Given the description of an element on the screen output the (x, y) to click on. 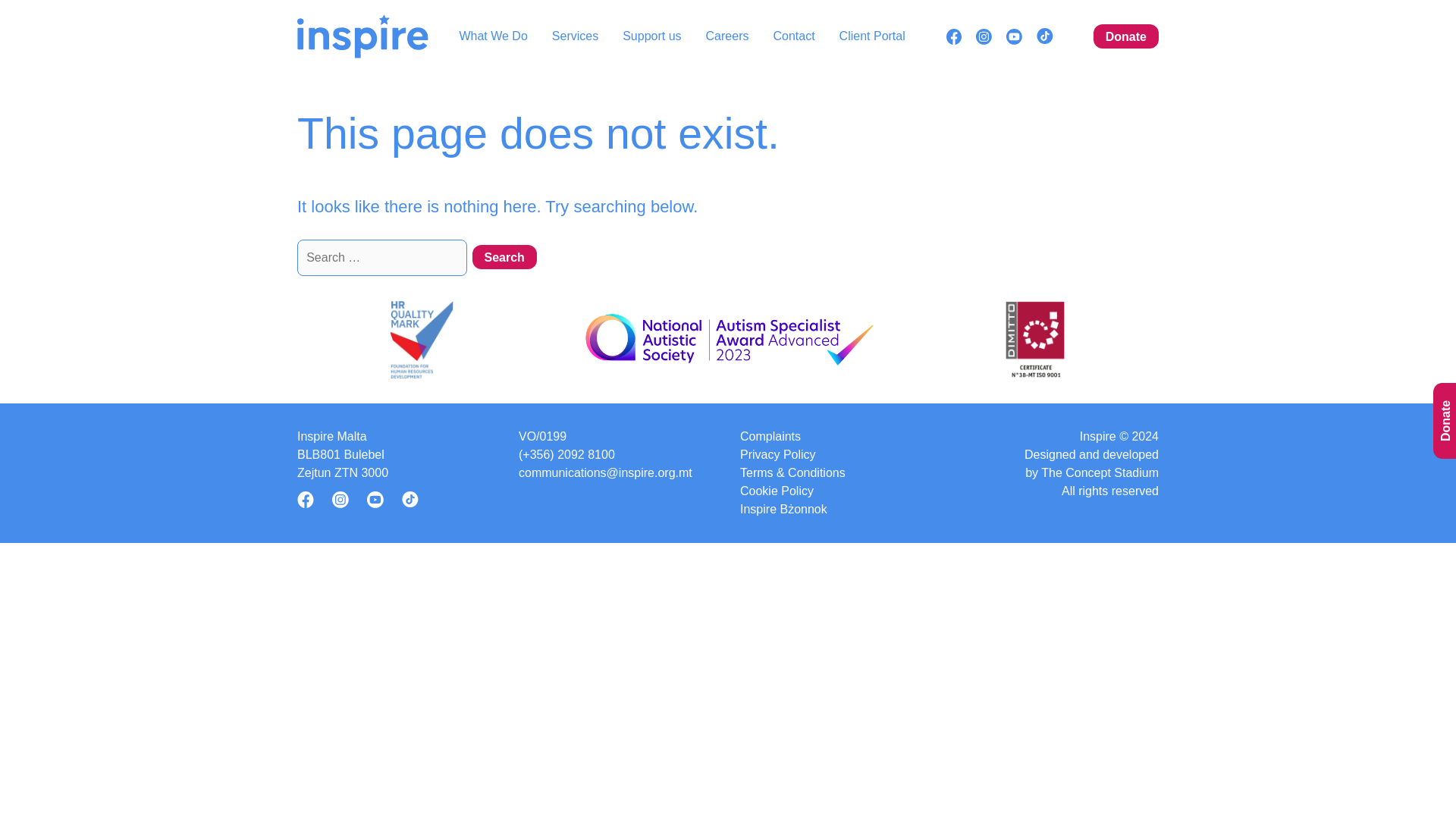
Services (574, 36)
Contact (793, 36)
Search (503, 256)
Support us (652, 36)
Search (503, 256)
Complaints (769, 436)
Donate (1125, 36)
Search (503, 256)
Privacy Policy (777, 454)
Careers (727, 36)
